Given the description of an element on the screen output the (x, y) to click on. 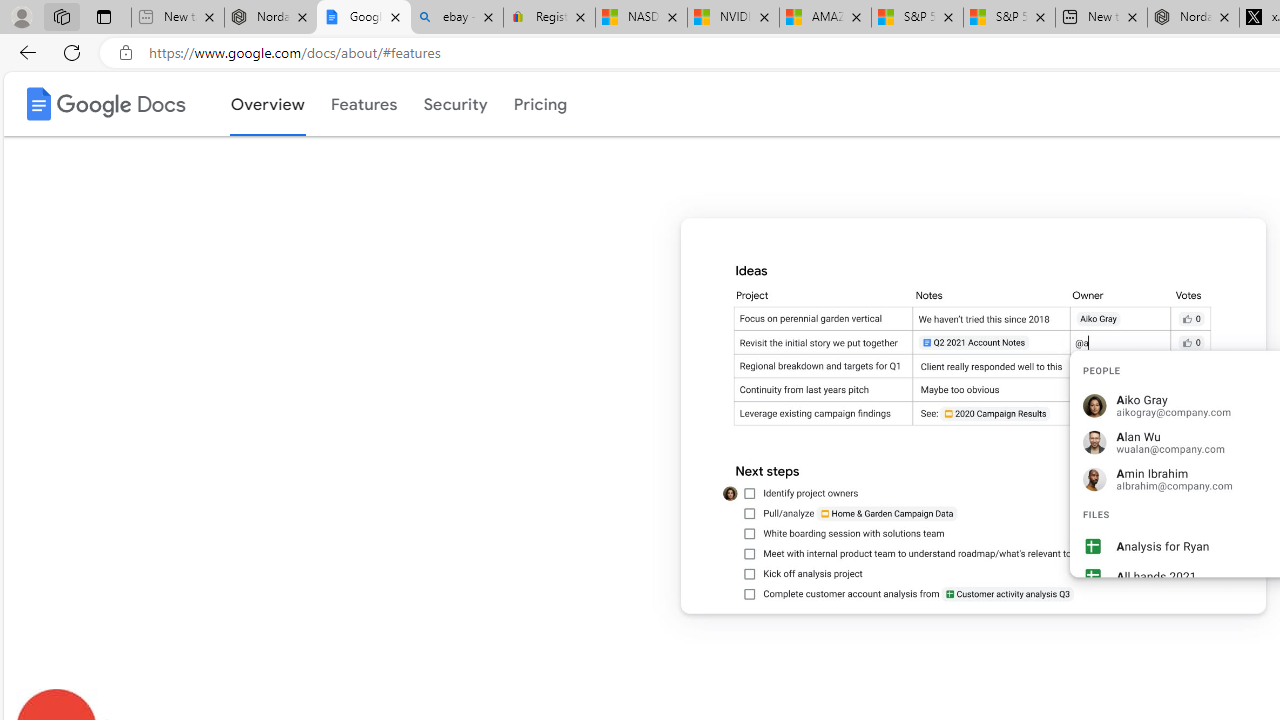
Google Docs: Online Document Editor | Google Workspace (363, 17)
Register: Create a personal eBay account (549, 17)
